Given the description of an element on the screen output the (x, y) to click on. 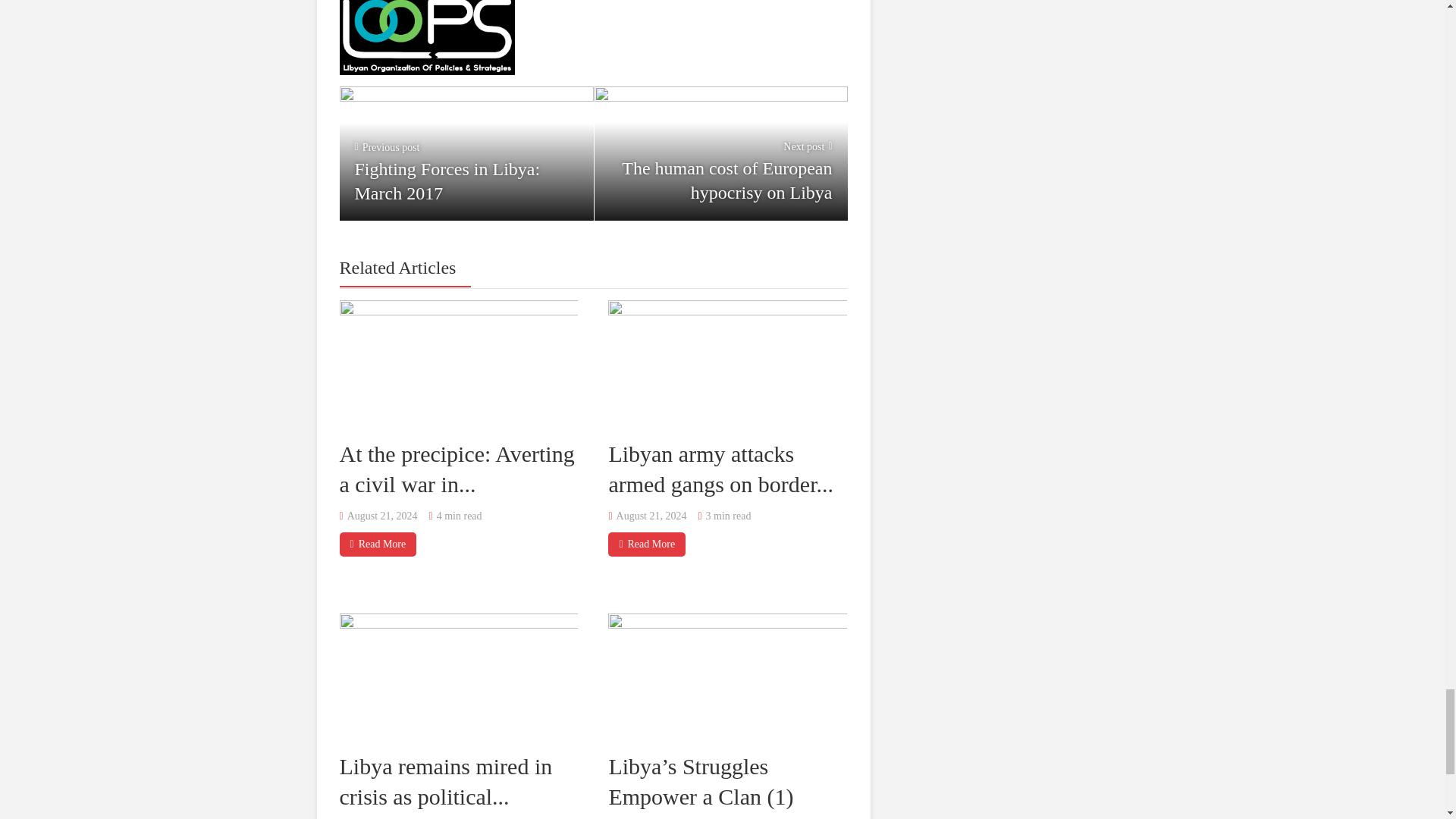
Libya remains mired in crisis as political... (446, 781)
At the precipice: Averting a civil war in... (457, 468)
Libyan army attacks armed gangs on border... (466, 153)
Read More (720, 468)
Read More (646, 544)
